Given the description of an element on the screen output the (x, y) to click on. 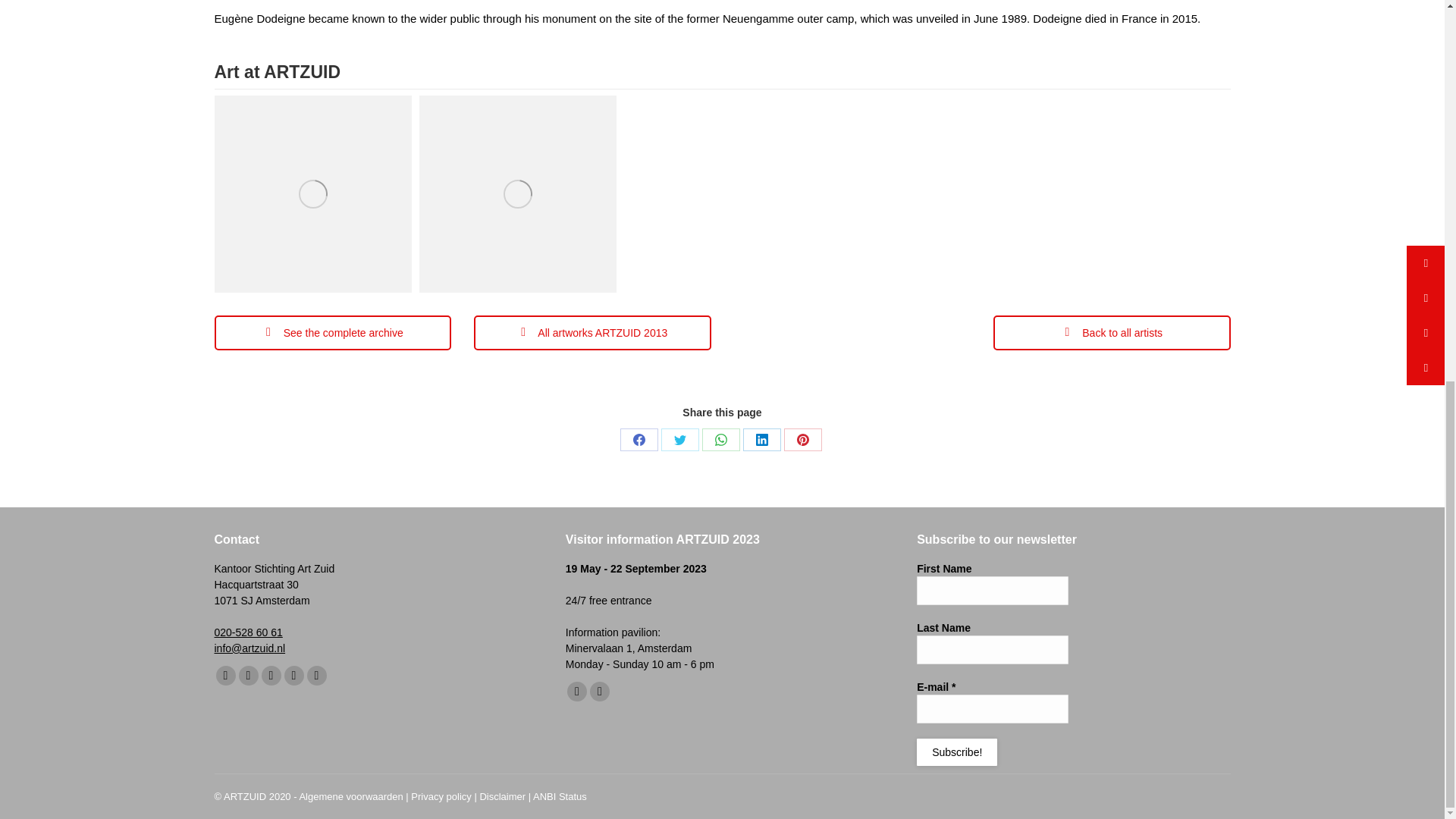
Subscribe! (957, 751)
Facebook (639, 439)
LinkedIn (761, 439)
ARTZUID Archive (332, 332)
Twitter (679, 439)
Facebook page opens in new window (224, 675)
All artworks of 2013 (592, 332)
WhatsApp (720, 439)
ARTZUID Artists (1111, 332)
Pinterest (803, 439)
